Given the description of an element on the screen output the (x, y) to click on. 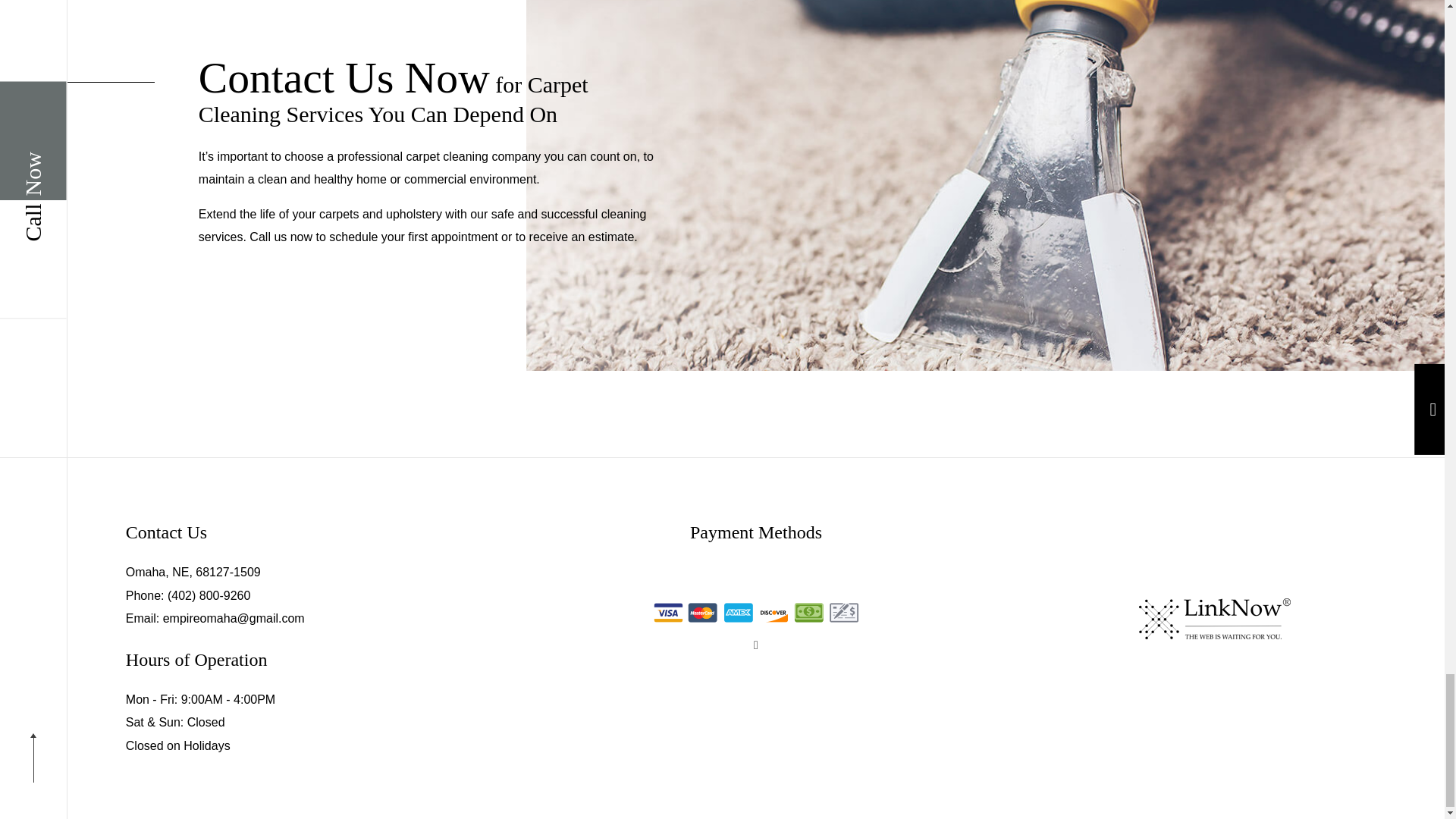
Check (844, 612)
Cash (809, 612)
American Express (738, 612)
Mastercard (703, 612)
Visa (668, 612)
Discover (773, 612)
